Given the description of an element on the screen output the (x, y) to click on. 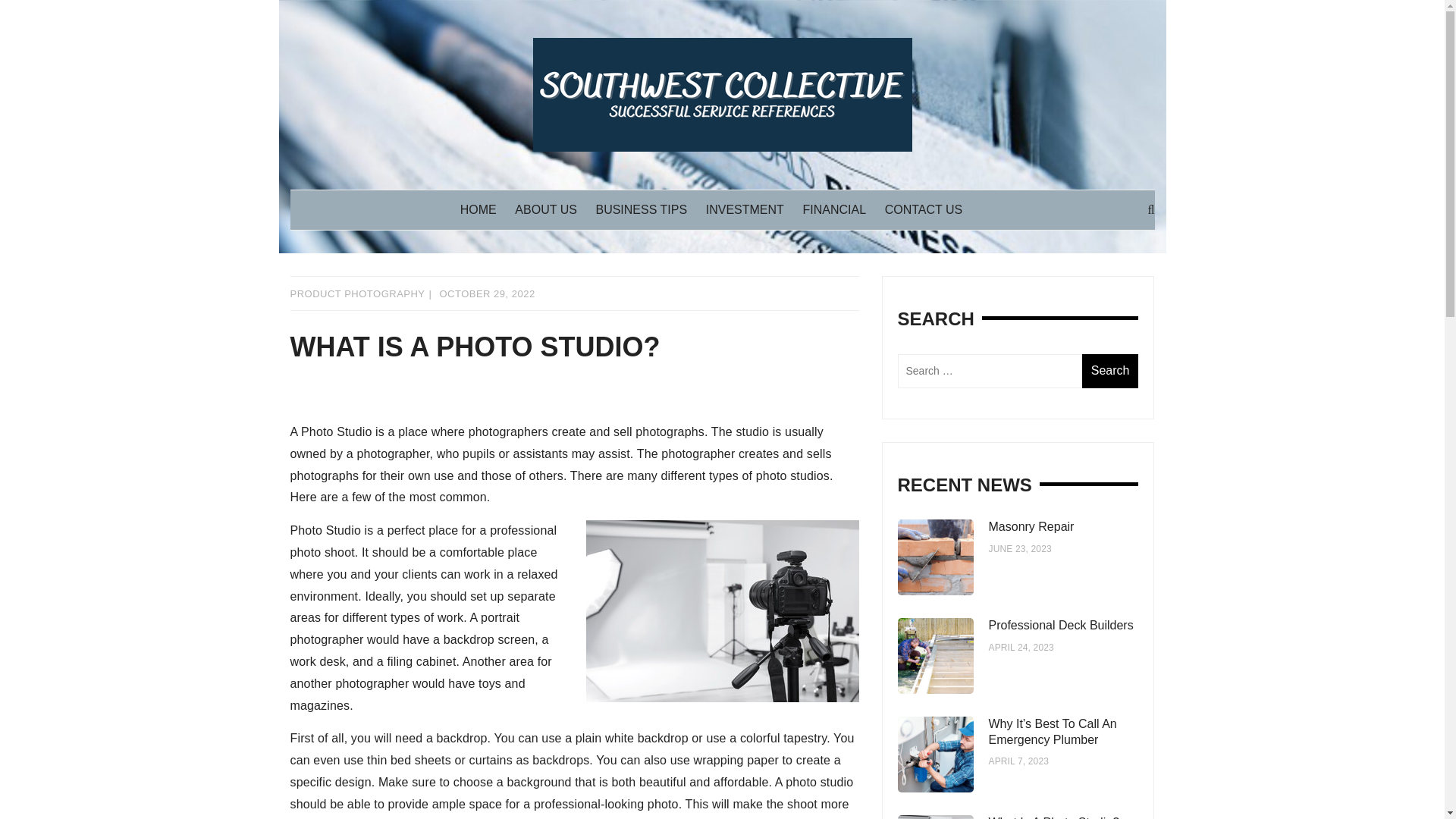
CONTACT US (931, 210)
What Is A Photo Studio? (1053, 817)
OCTOBER 29, 2022 (486, 293)
APRIL 7, 2023 (1018, 760)
HOME (486, 210)
Masonry Repair (1031, 526)
PRODUCT PHOTOGRAPHY (357, 293)
Professional Deck Builders (1061, 625)
FINANCIAL (841, 210)
Search (1109, 370)
